Given the description of an element on the screen output the (x, y) to click on. 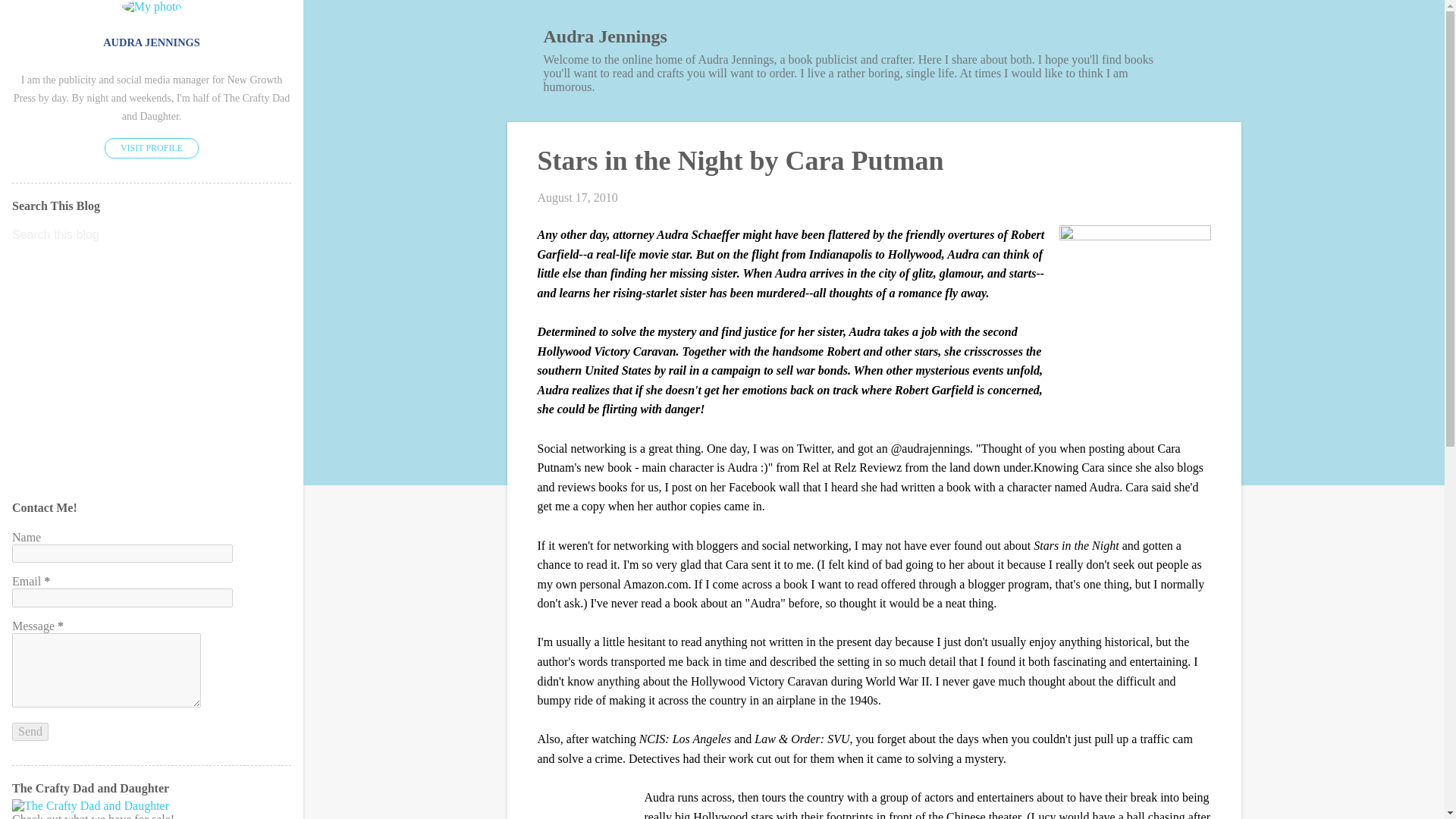
August 17, 2010 (577, 196)
Audra Jennings (604, 35)
Send (29, 731)
Search (31, 18)
permanent link (577, 196)
VISIT PROFILE (151, 148)
AUDRA JENNINGS (151, 42)
